Given the description of an element on the screen output the (x, y) to click on. 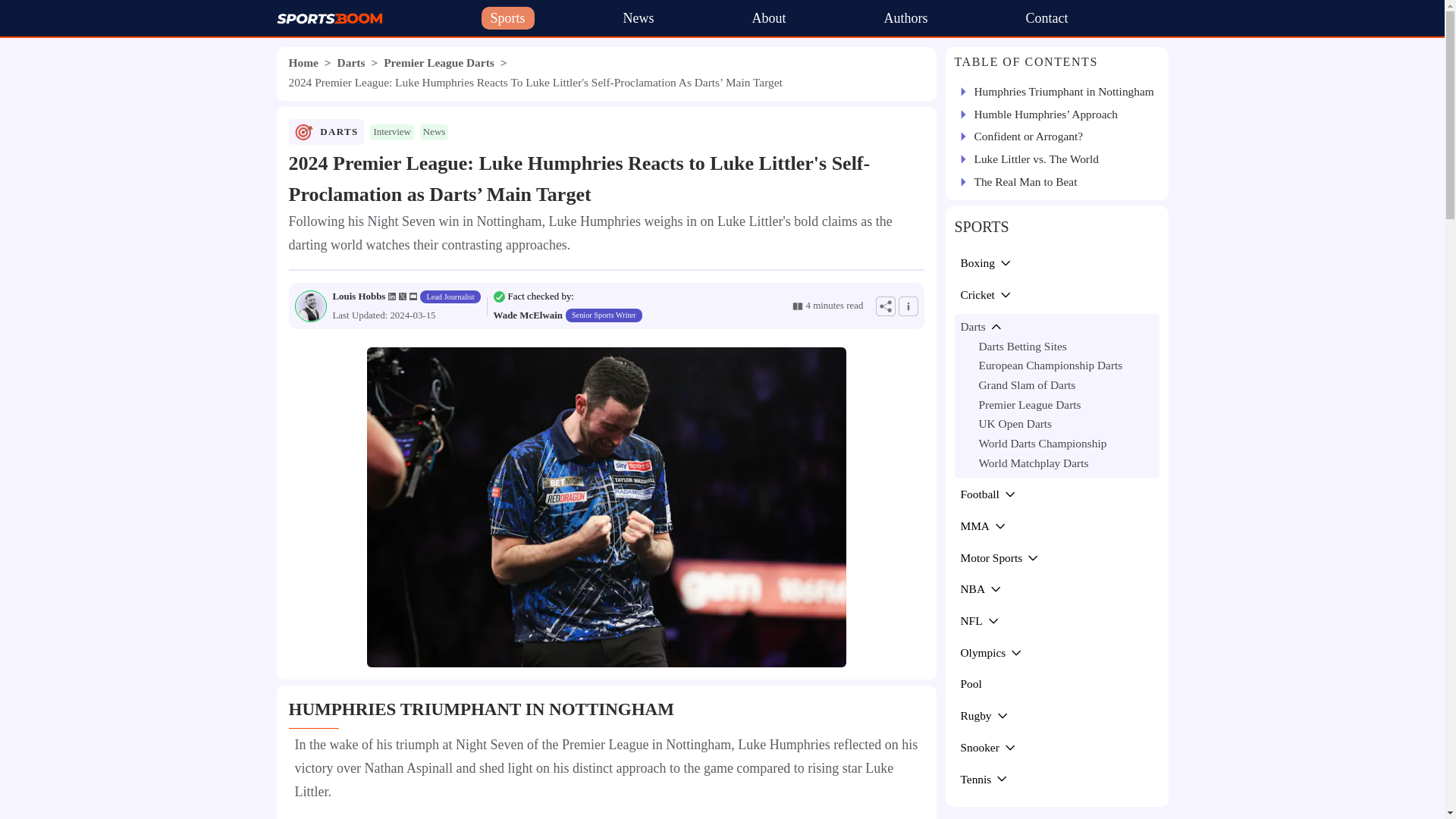
Contact (1046, 18)
Home (302, 62)
Louis Hobbs (358, 296)
About (768, 18)
DARTS (339, 131)
Premier League Darts (439, 62)
Authors (905, 18)
Darts (351, 62)
Sports (507, 18)
News (638, 18)
